Given the description of an element on the screen output the (x, y) to click on. 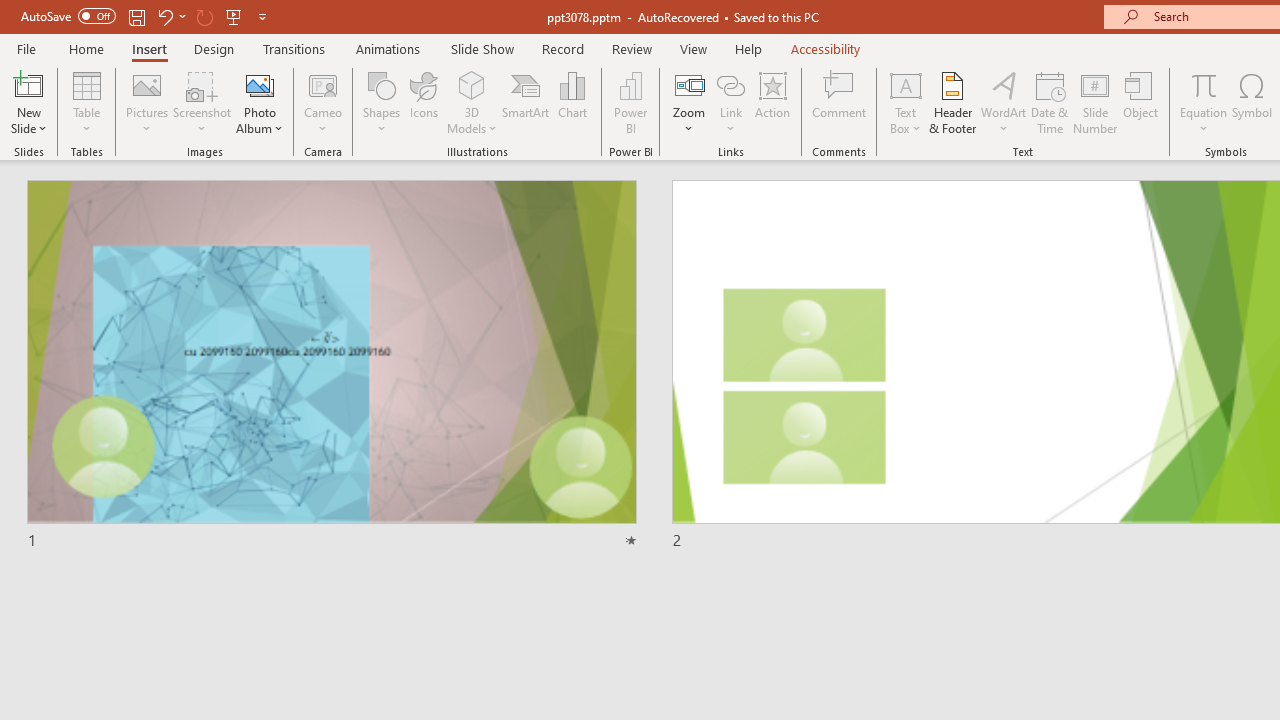
Chart... (572, 102)
3D Models (472, 102)
Link (731, 102)
Draw Horizontal Text Box (905, 84)
WordArt (1004, 102)
